Given the description of an element on the screen output the (x, y) to click on. 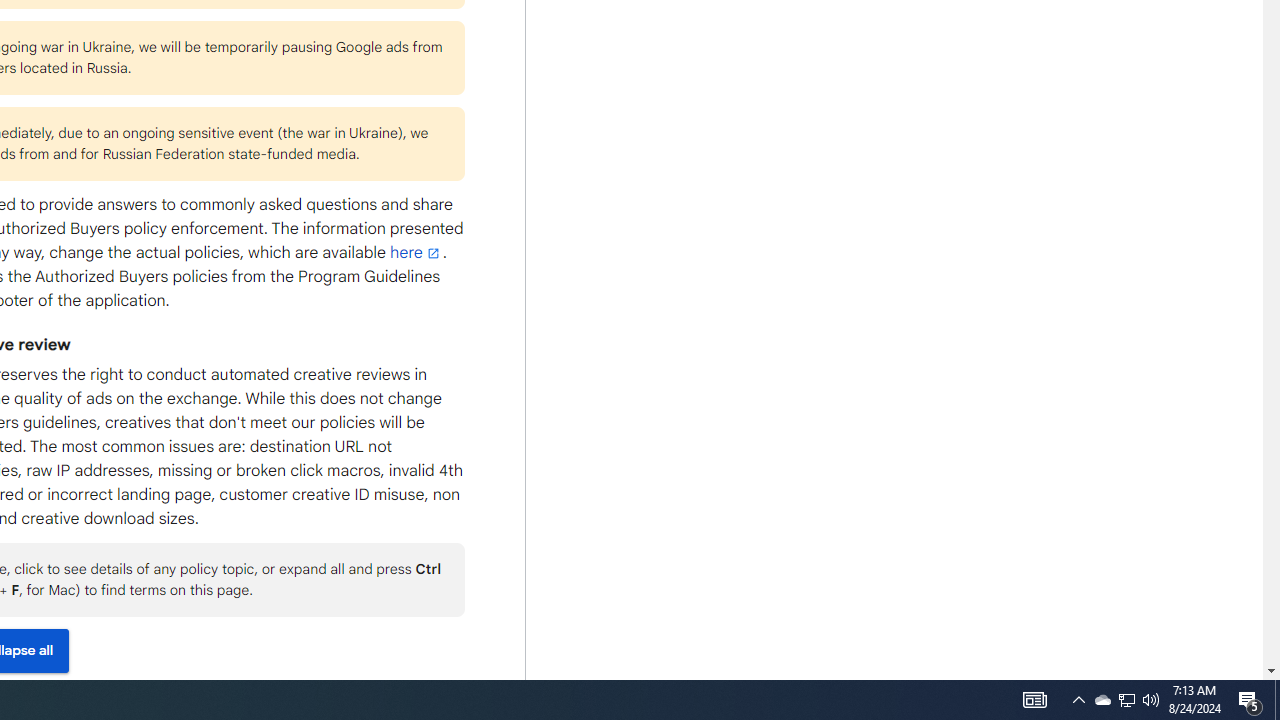
here (416, 252)
